Given the description of an element on the screen output the (x, y) to click on. 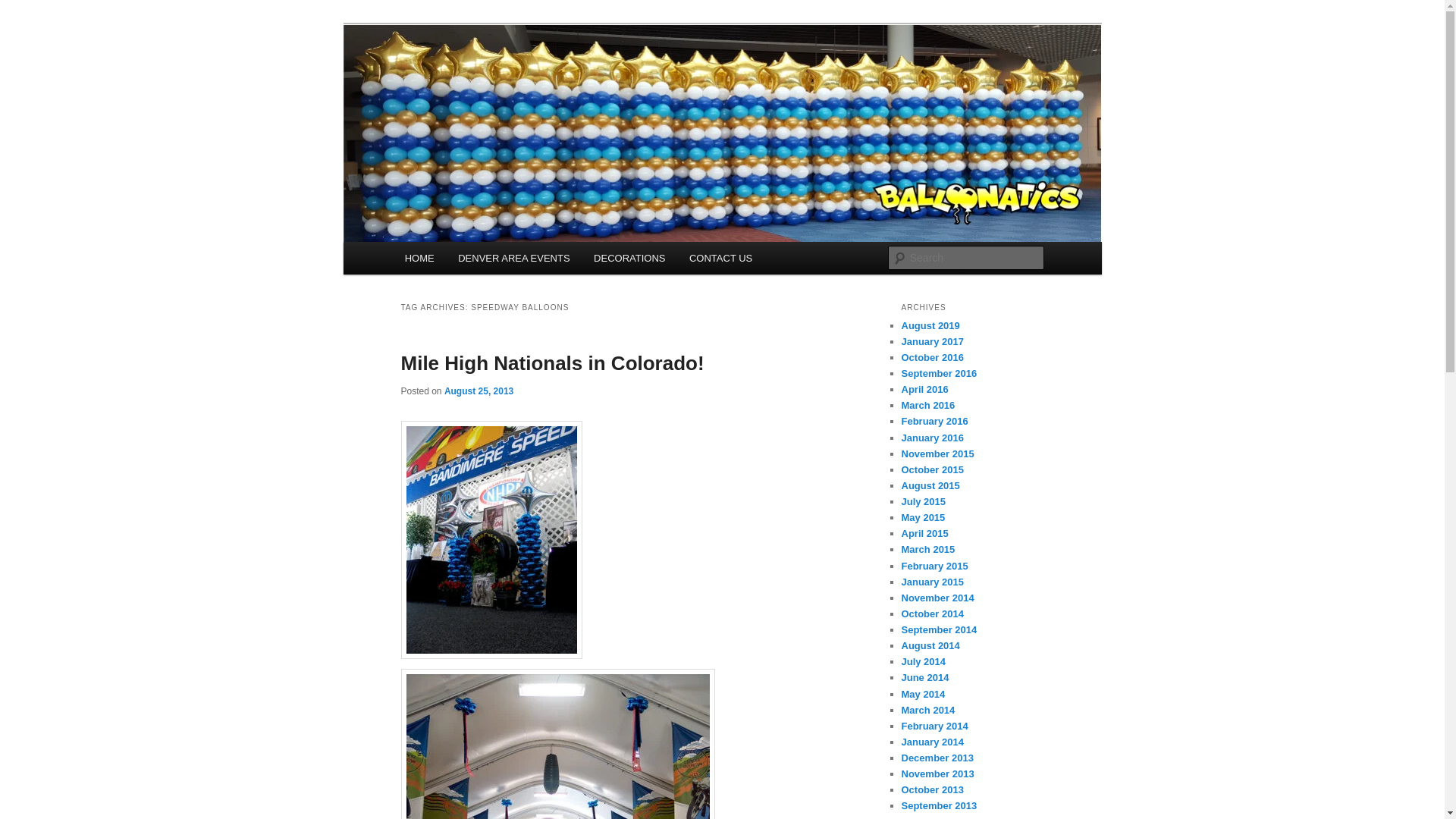
DECORATIONS (628, 257)
CONTACT US (720, 257)
October 2016 (931, 357)
January 2017 (931, 341)
October 2015 (931, 469)
August 25, 2013 (478, 389)
January 2016 (931, 437)
April 2016 (924, 389)
November 2015 (937, 453)
6:23 pm (478, 389)
Balloons-Denver.com (516, 78)
DENVER AREA EVENTS (512, 257)
Mile High Nationals in Colorado! (551, 363)
September 2016 (938, 373)
